Given the description of an element on the screen output the (x, y) to click on. 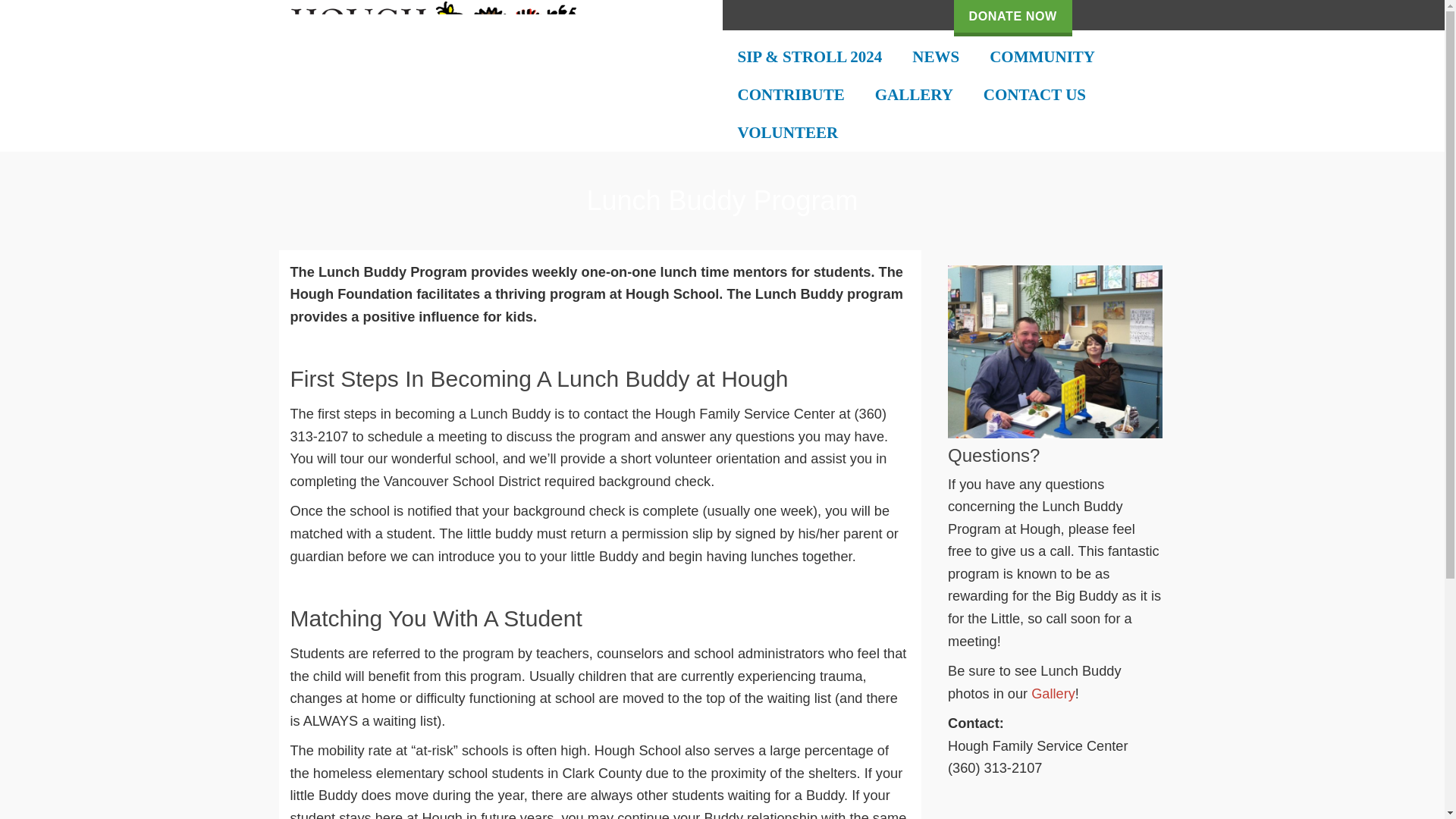
NEWS (935, 56)
HOME (762, 18)
CONTACT US (1034, 94)
COMMUNITY (1041, 56)
Gallery (1052, 693)
CONTRIBUTE (790, 94)
GALLERY (914, 94)
VOLUNTEER (787, 132)
DONATE NOW (1012, 18)
ABOUT US (858, 18)
